Given the description of an element on the screen output the (x, y) to click on. 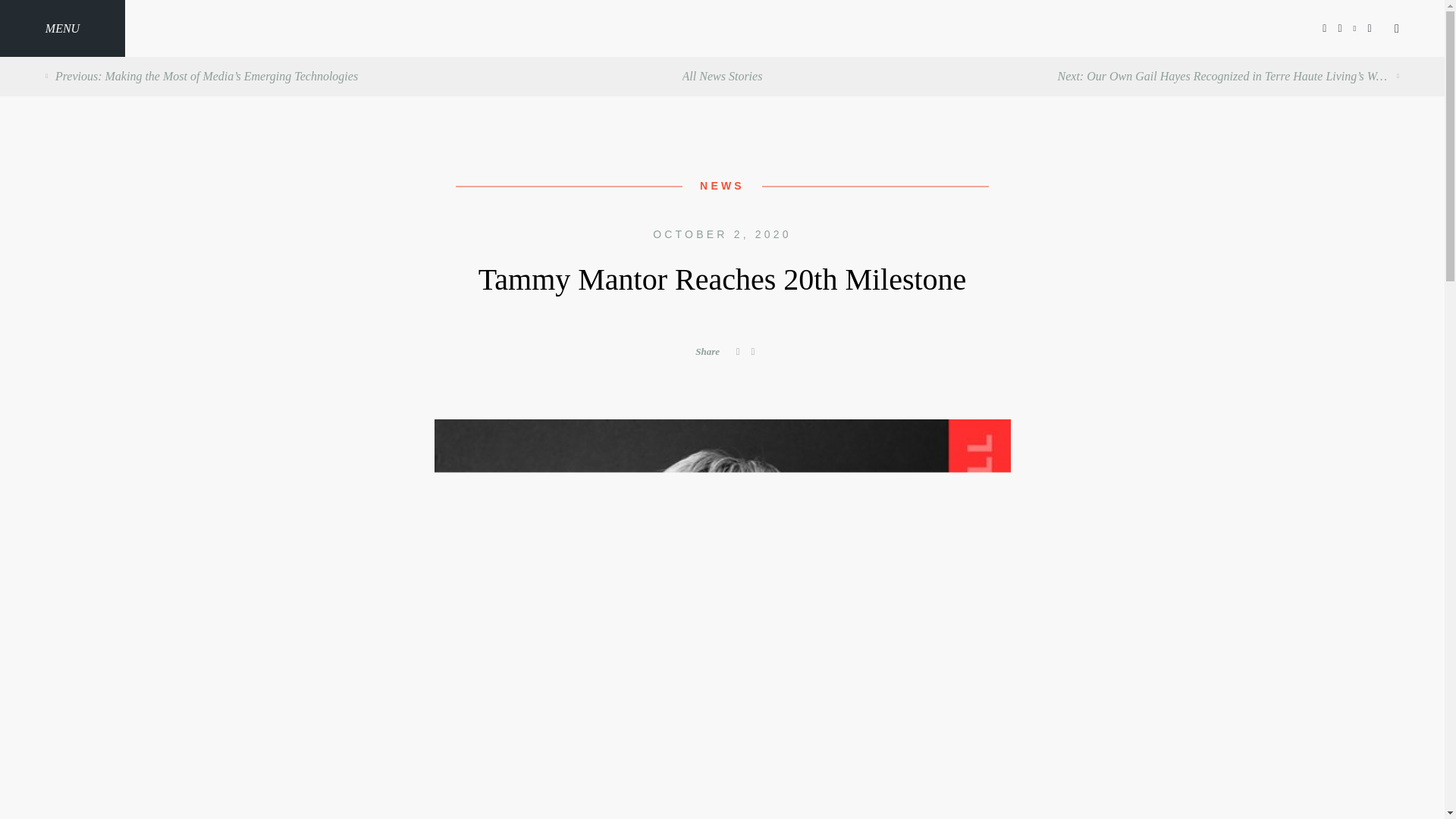
Subscribe (722, 530)
go (721, 613)
All News Stories (722, 76)
NEWS (722, 185)
